Given the description of an element on the screen output the (x, y) to click on. 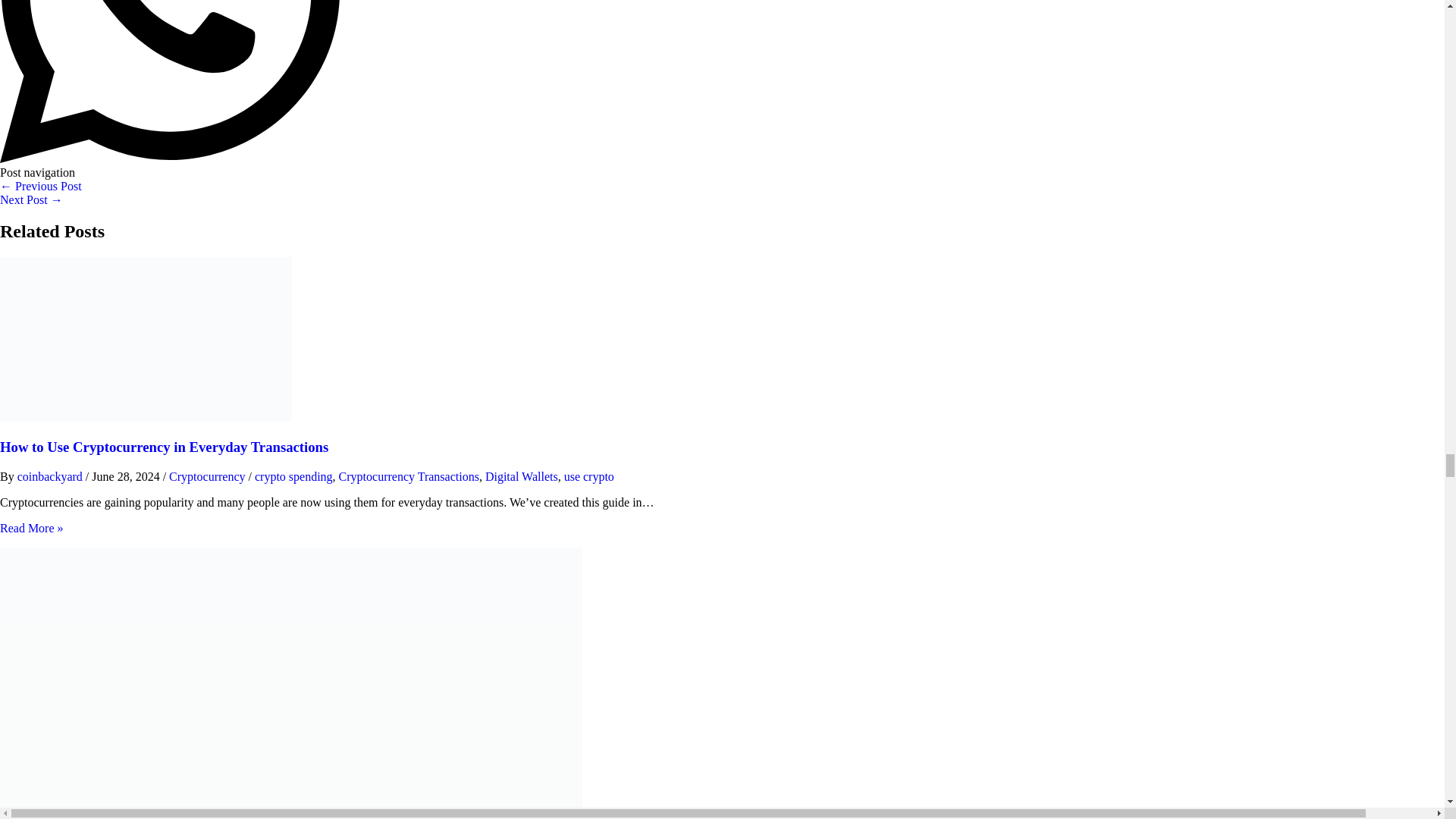
Pi Coin Price Prediction - Expert Insights and Forecasts (31, 199)
View all posts by coinbackyard (51, 476)
